Given the description of an element on the screen output the (x, y) to click on. 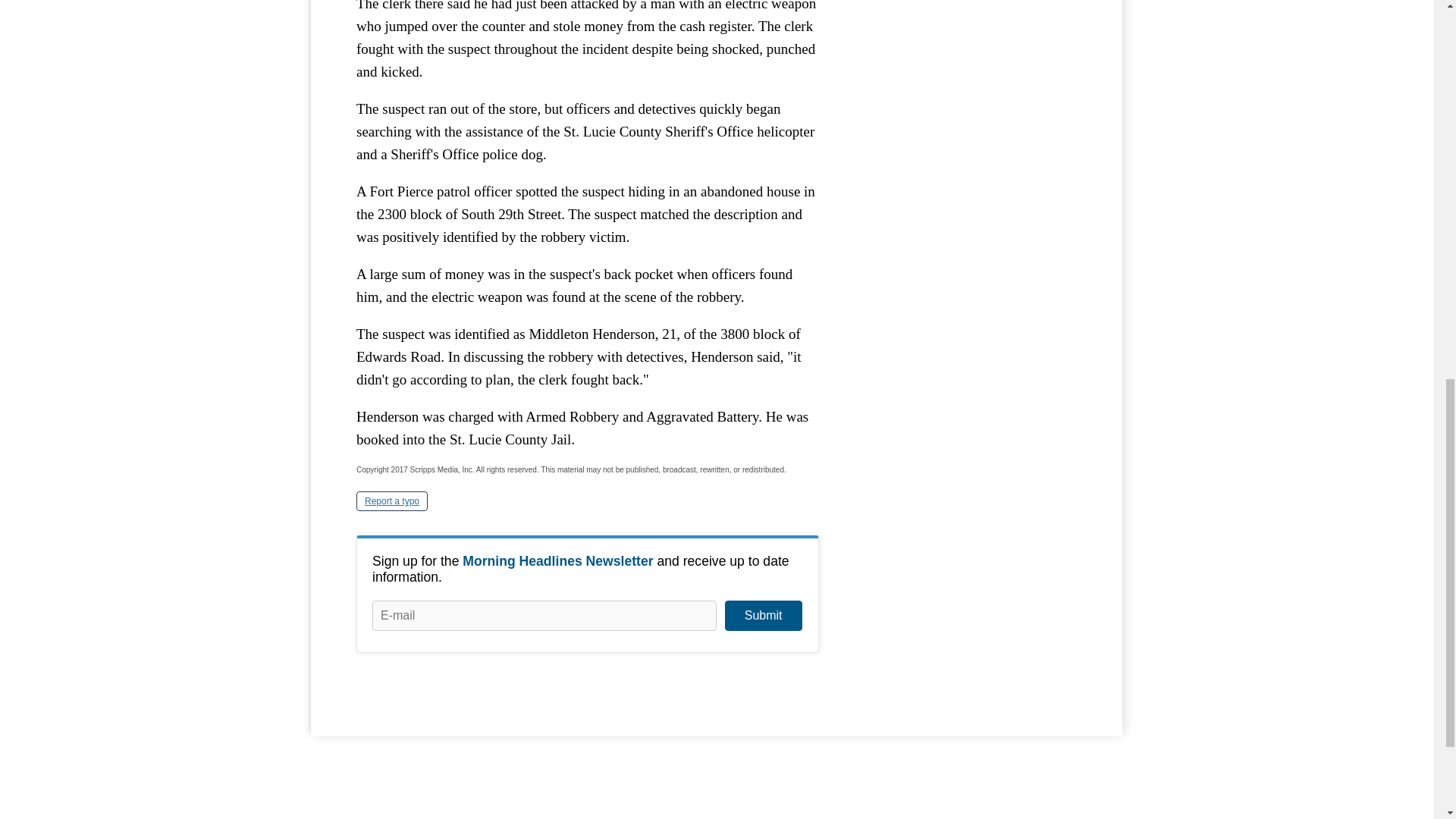
Submit (763, 615)
